Given the description of an element on the screen output the (x, y) to click on. 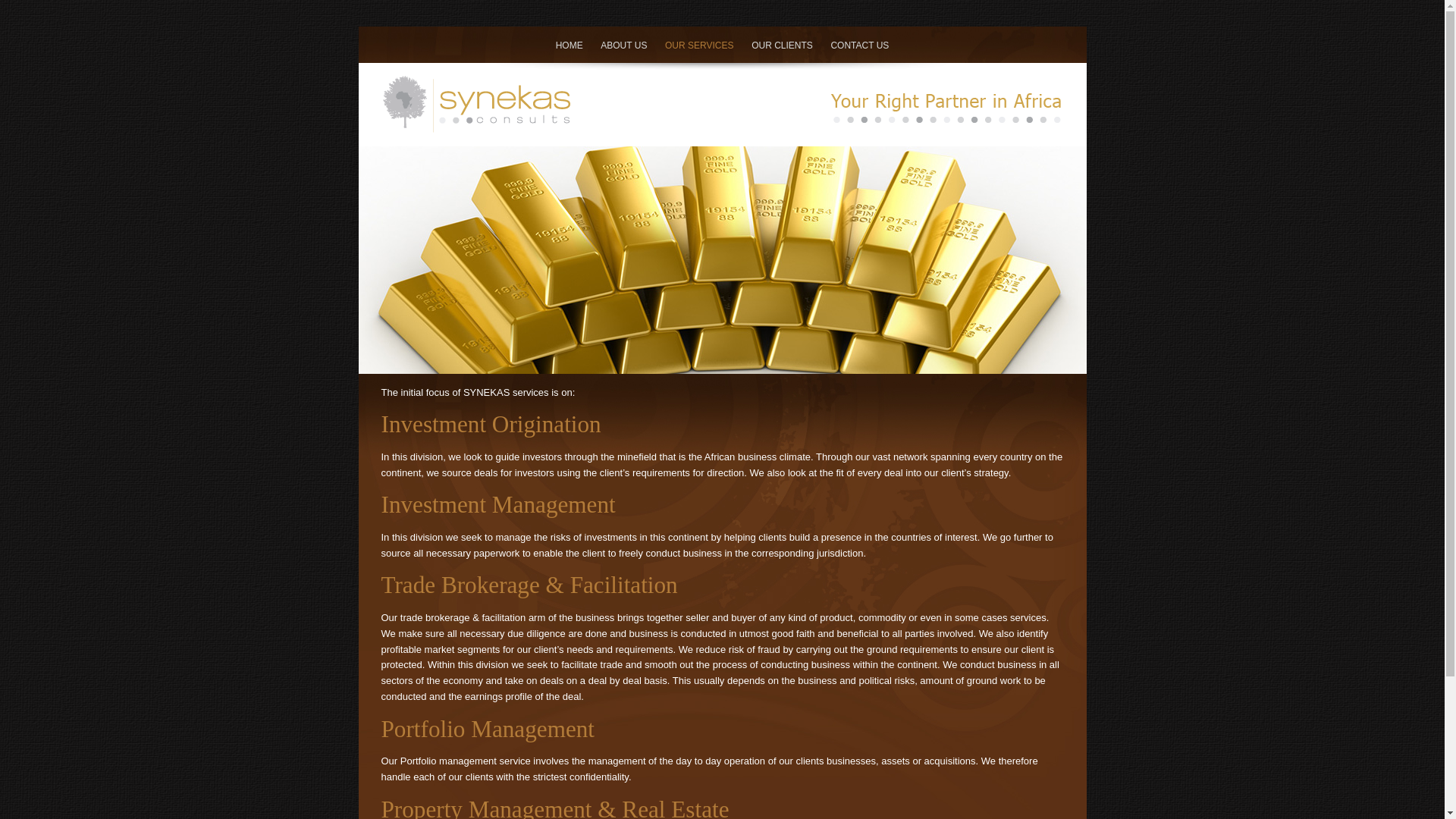
OUR SERVICES (699, 45)
CONTACT US (858, 45)
ABOUT US (622, 45)
OUR CLIENTS (781, 45)
HOME (569, 45)
